Given the description of an element on the screen output the (x, y) to click on. 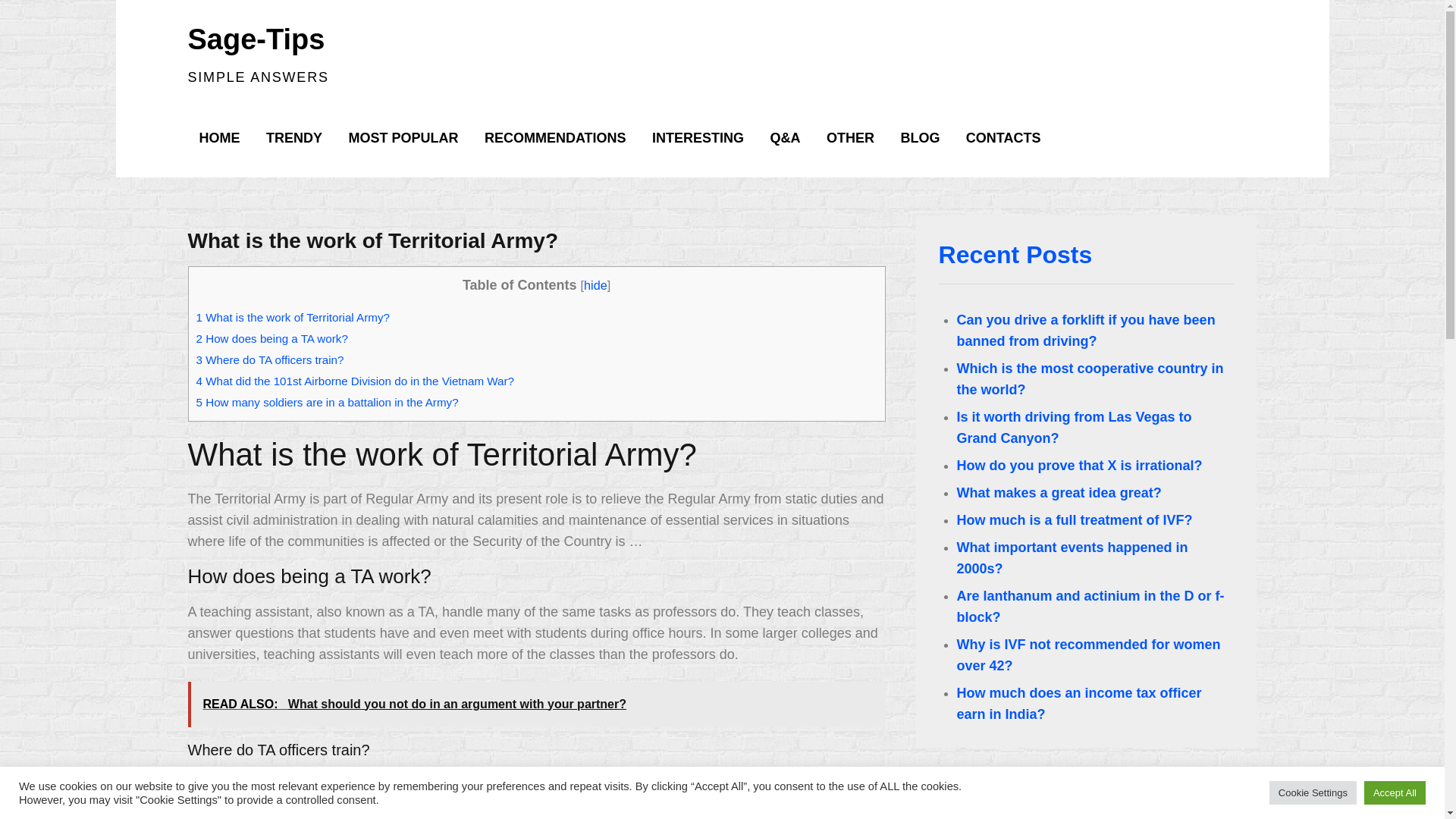
How do you prove that X is irrational? (1079, 465)
OTHER (850, 137)
TRENDY (293, 137)
How much is a full treatment of IVF? (1074, 519)
Is it worth driving from Las Vegas to Grand Canyon? (1074, 427)
hide (595, 284)
What makes a great idea great? (1058, 492)
Which is the most cooperative country in the world? (1090, 379)
